Given the description of an element on the screen output the (x, y) to click on. 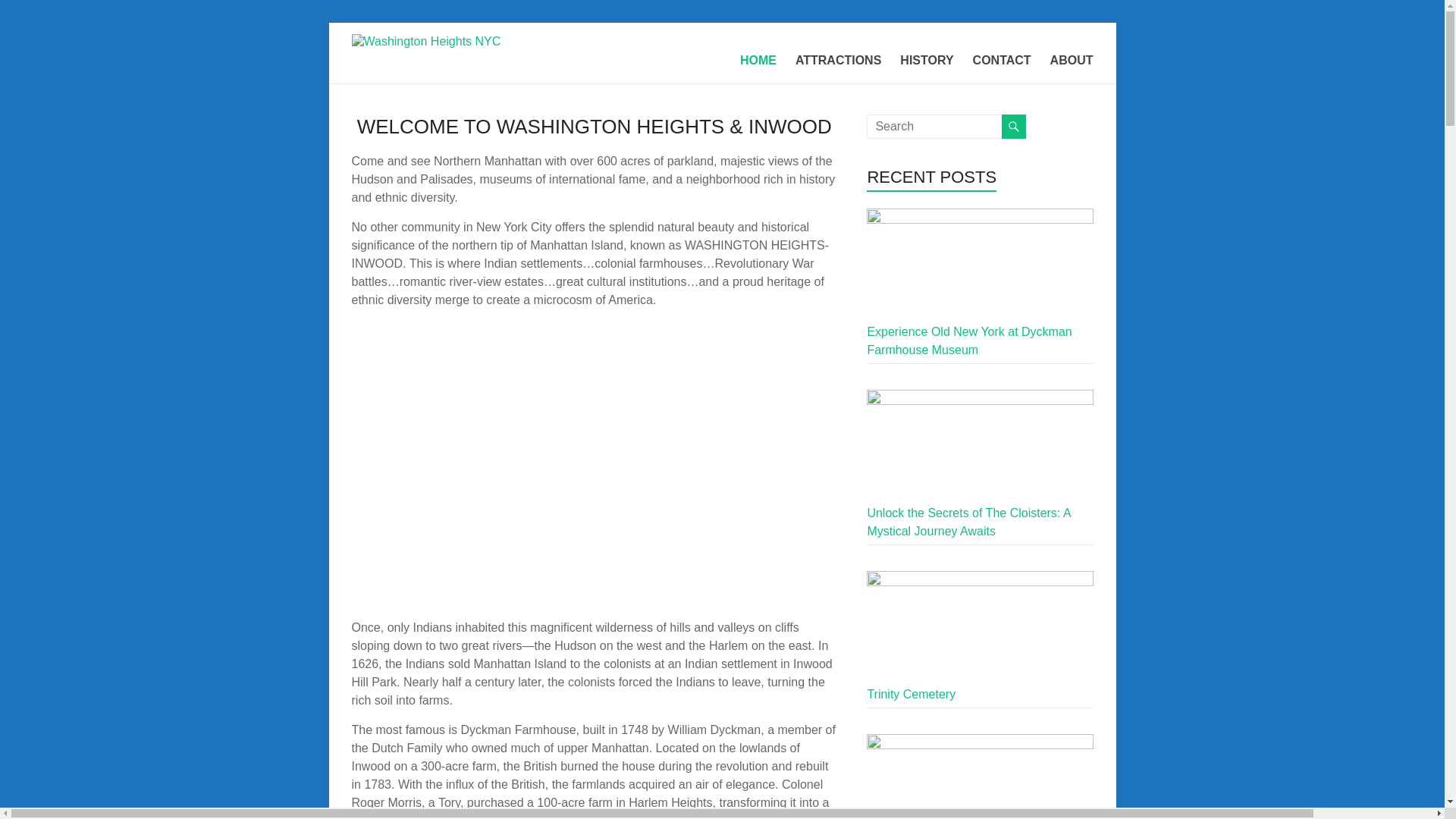
CONTACT (1001, 60)
ABOUT (1071, 60)
HOME (757, 60)
Washington Heights NYC (443, 68)
WASHINGTON HEIGHTS NYC (443, 68)
ATTRACTIONS (837, 60)
HISTORY (926, 60)
